Given the description of an element on the screen output the (x, y) to click on. 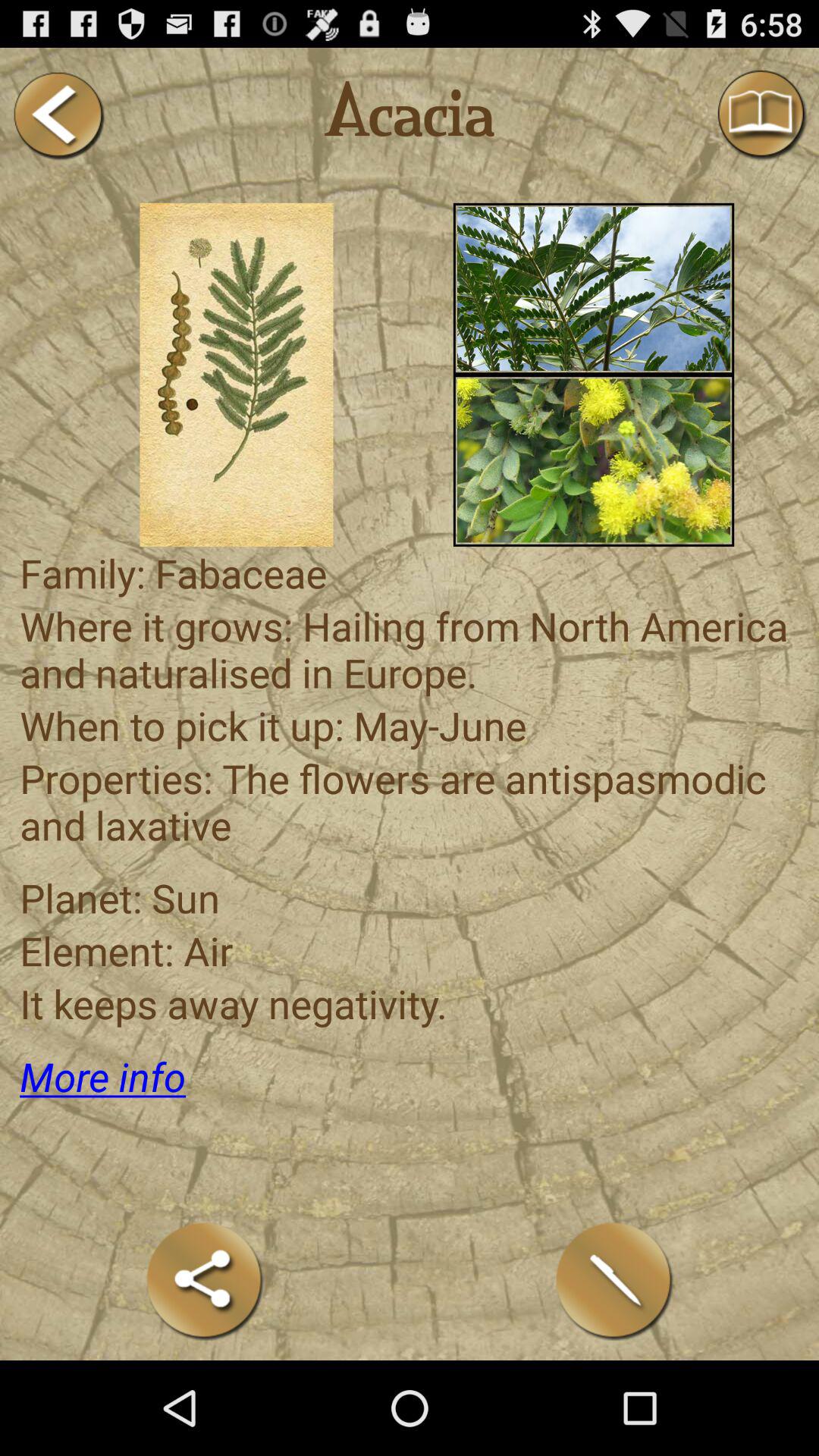
picker (236, 374)
